Given the description of an element on the screen output the (x, y) to click on. 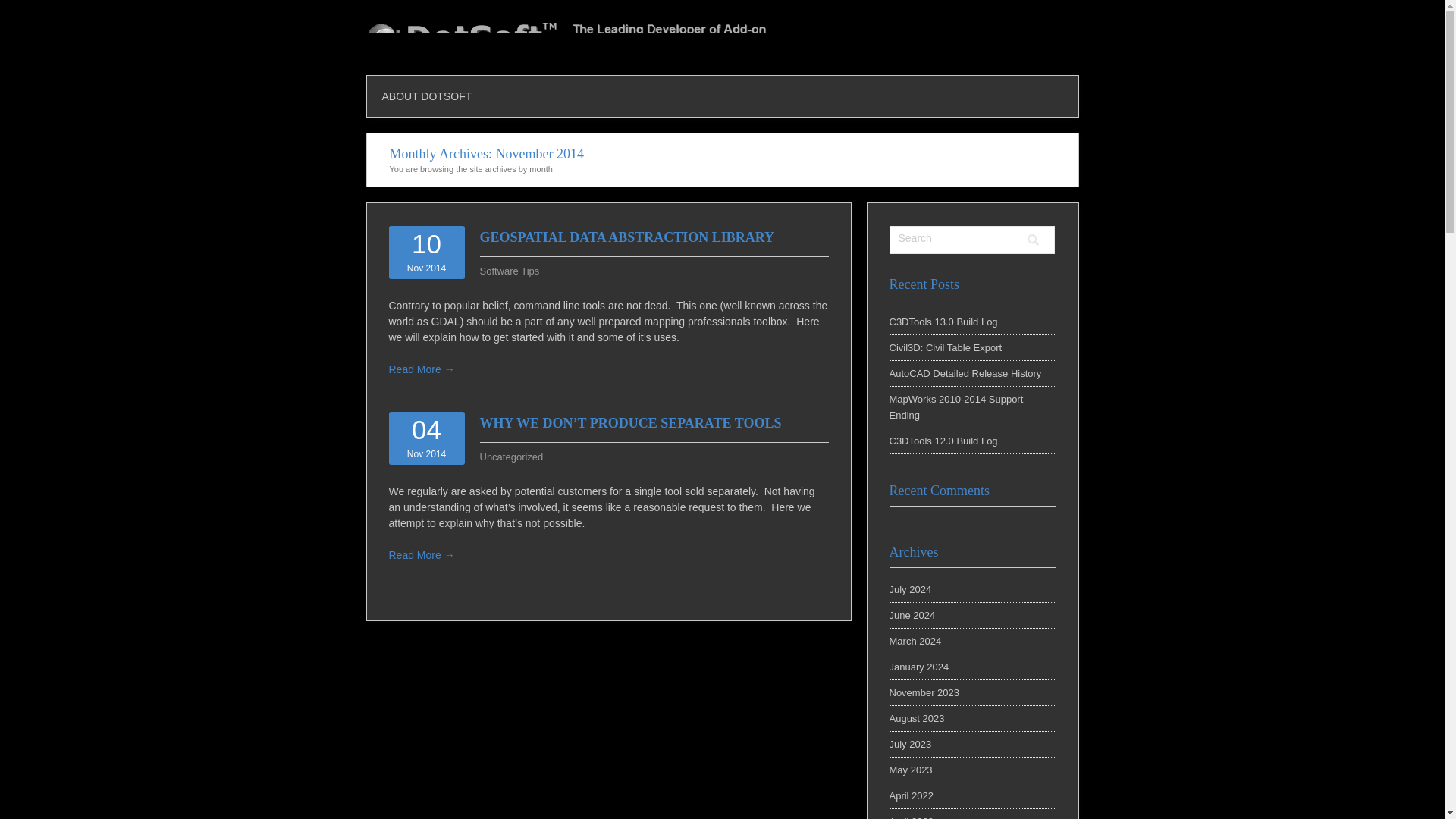
GEOSPATIAL DATA ABSTRACTION LIBRARY (626, 237)
November 4, 2014 2:45 pm (426, 437)
June 2024 (911, 614)
C3DTools 13.0 Build Log (942, 321)
May 2023 (909, 769)
Search (1032, 239)
November 10, 2014 10:54 pm (426, 251)
Uncategorized (511, 456)
View all posts in Software Tips (508, 270)
November 2023 (923, 692)
